Given the description of an element on the screen output the (x, y) to click on. 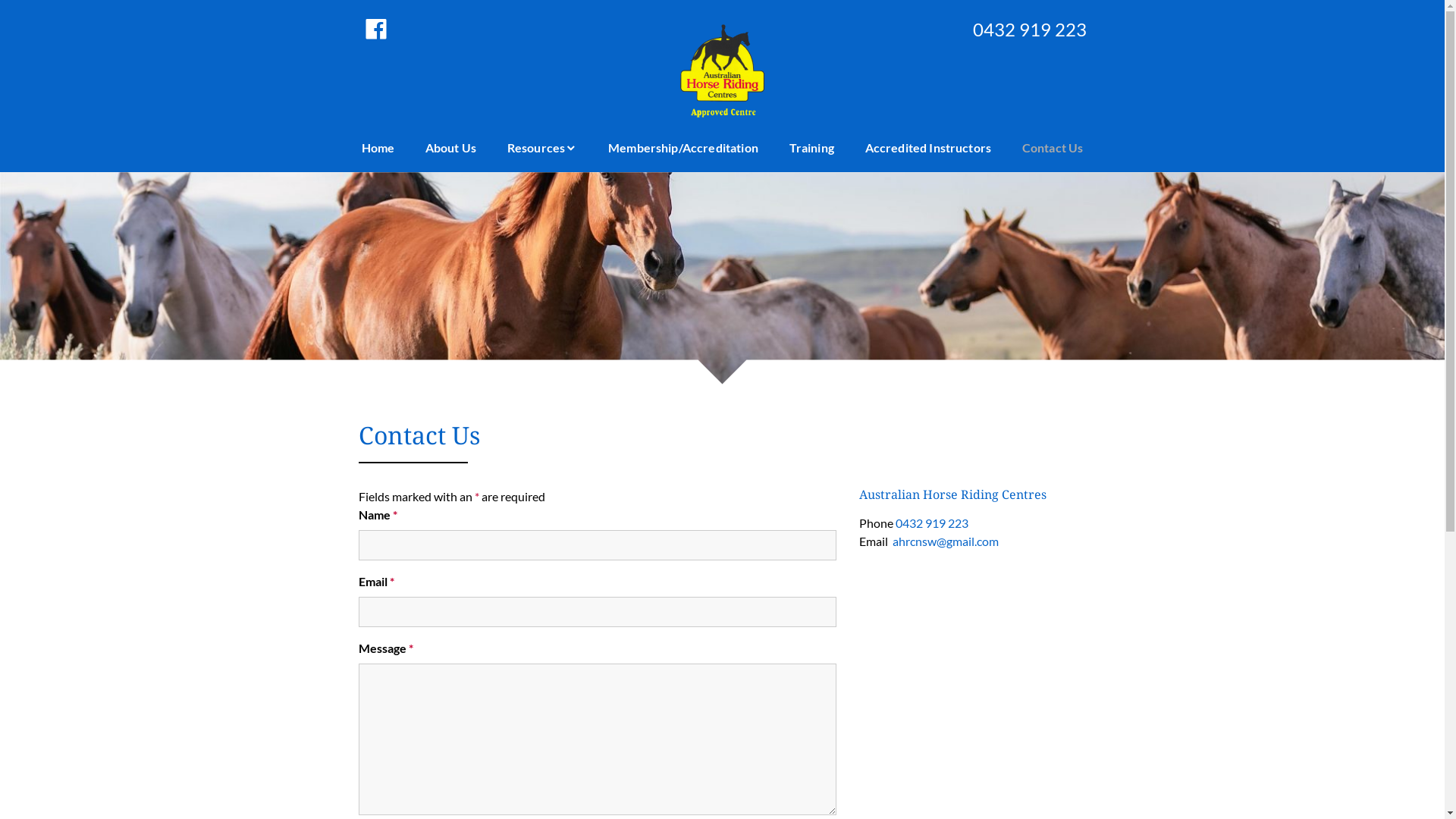
Contact Us Element type: text (1052, 147)
About Us Element type: text (450, 147)
Membership/Accreditation Element type: text (683, 147)
Accredited Instructors Element type: text (928, 147)
0432 919 223 Element type: text (1010, 29)
Resources Element type: text (542, 147)
Training Element type: text (811, 147)
0432 919 223 Element type: text (930, 522)
ahrcnsw@gmail.com Element type: text (944, 540)
Home Element type: text (377, 147)
